Given the description of an element on the screen output the (x, y) to click on. 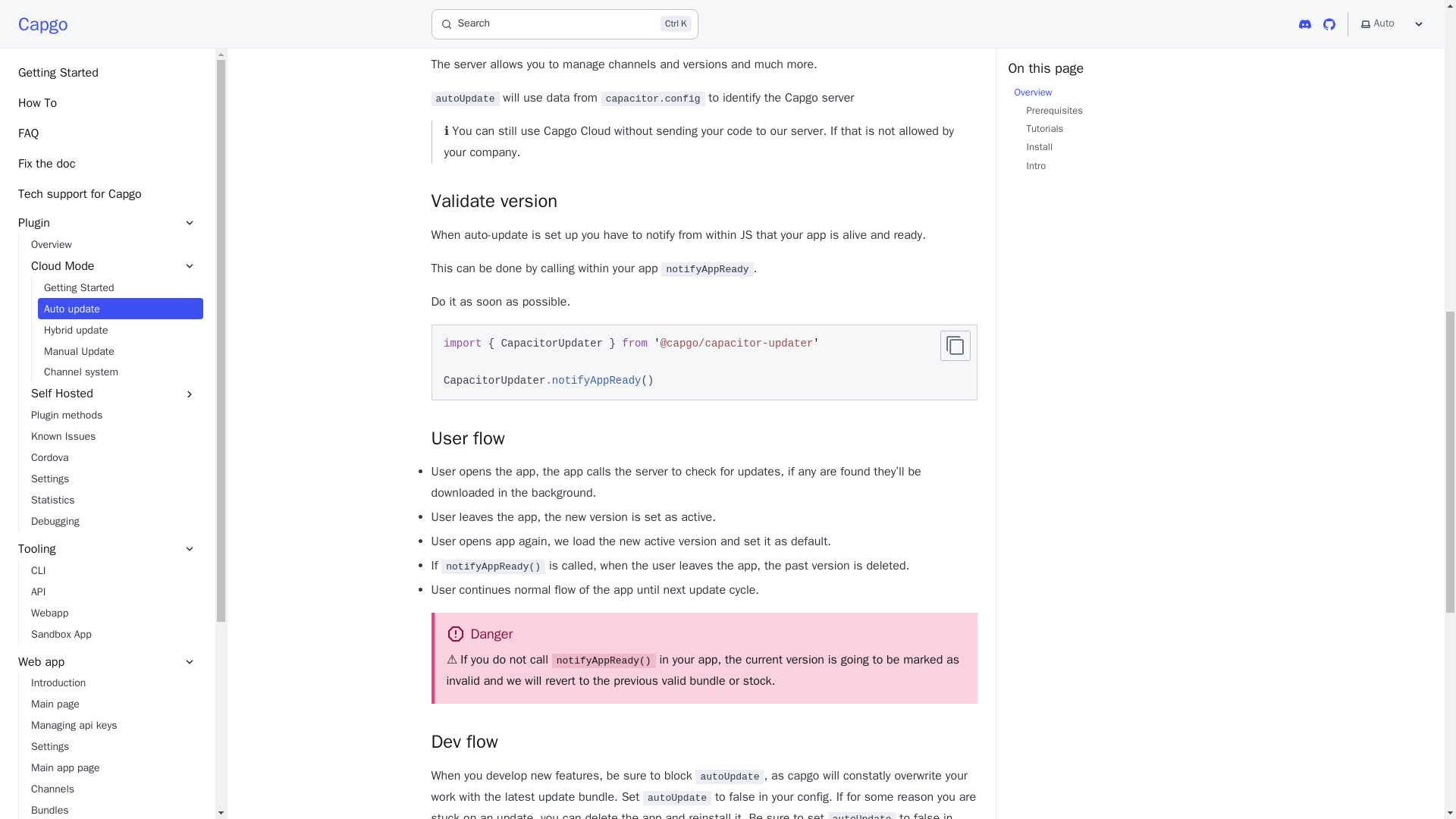
Copy to clipboard (955, 345)
